Given the description of an element on the screen output the (x, y) to click on. 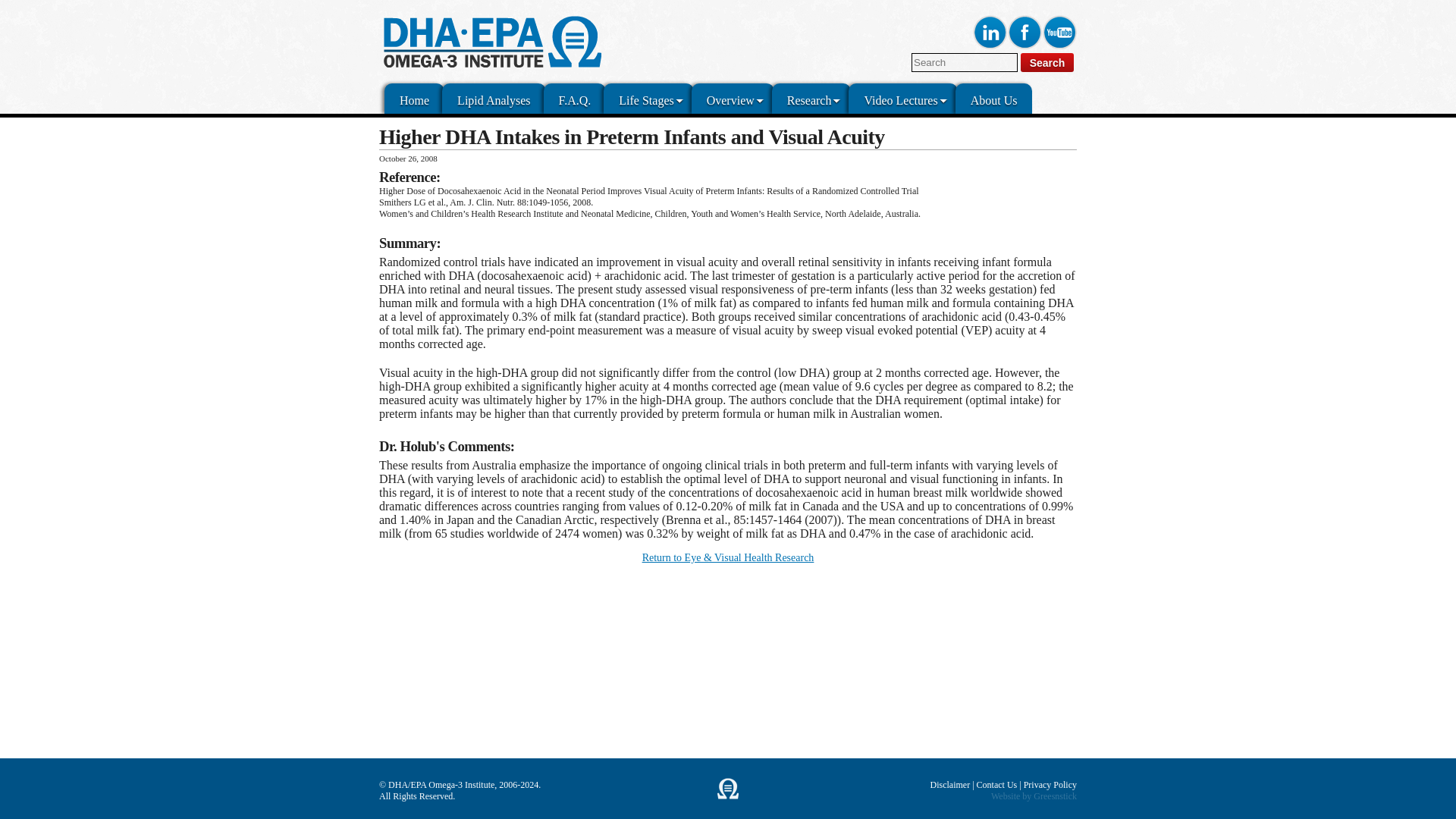
Search (1047, 62)
Enter the keywords you wish to search for. (964, 62)
